Given the description of an element on the screen output the (x, y) to click on. 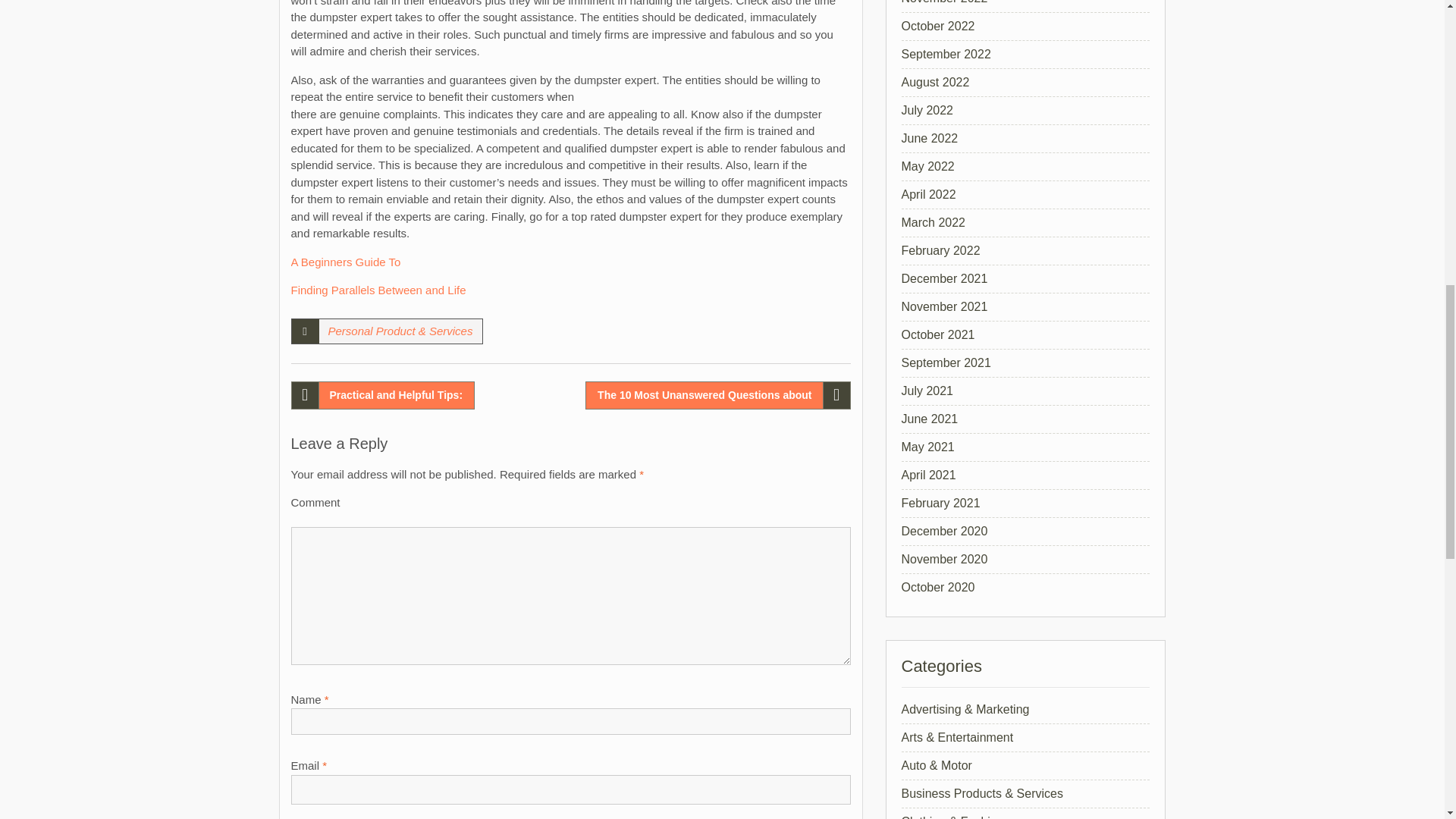
October 2022 (937, 25)
Practical and Helpful Tips: (383, 394)
Finding Parallels Between and Life (378, 289)
A Beginners Guide To (346, 260)
November 2022 (944, 2)
The 10 Most Unanswered Questions about (717, 394)
